Given the description of an element on the screen output the (x, y) to click on. 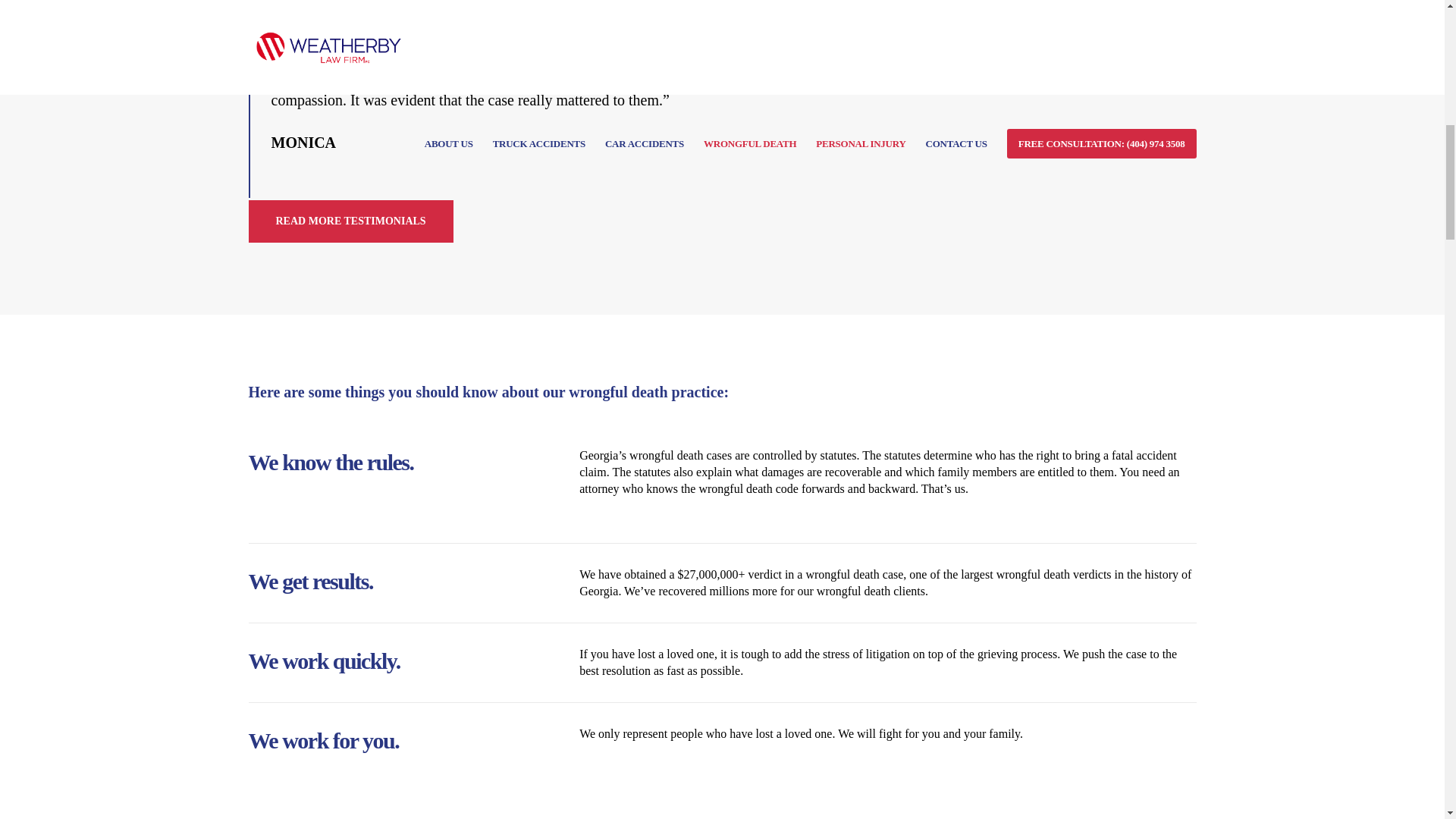
REVIEWS (350, 221)
Monica Rogers Testimonial (964, 123)
